Given the description of an element on the screen output the (x, y) to click on. 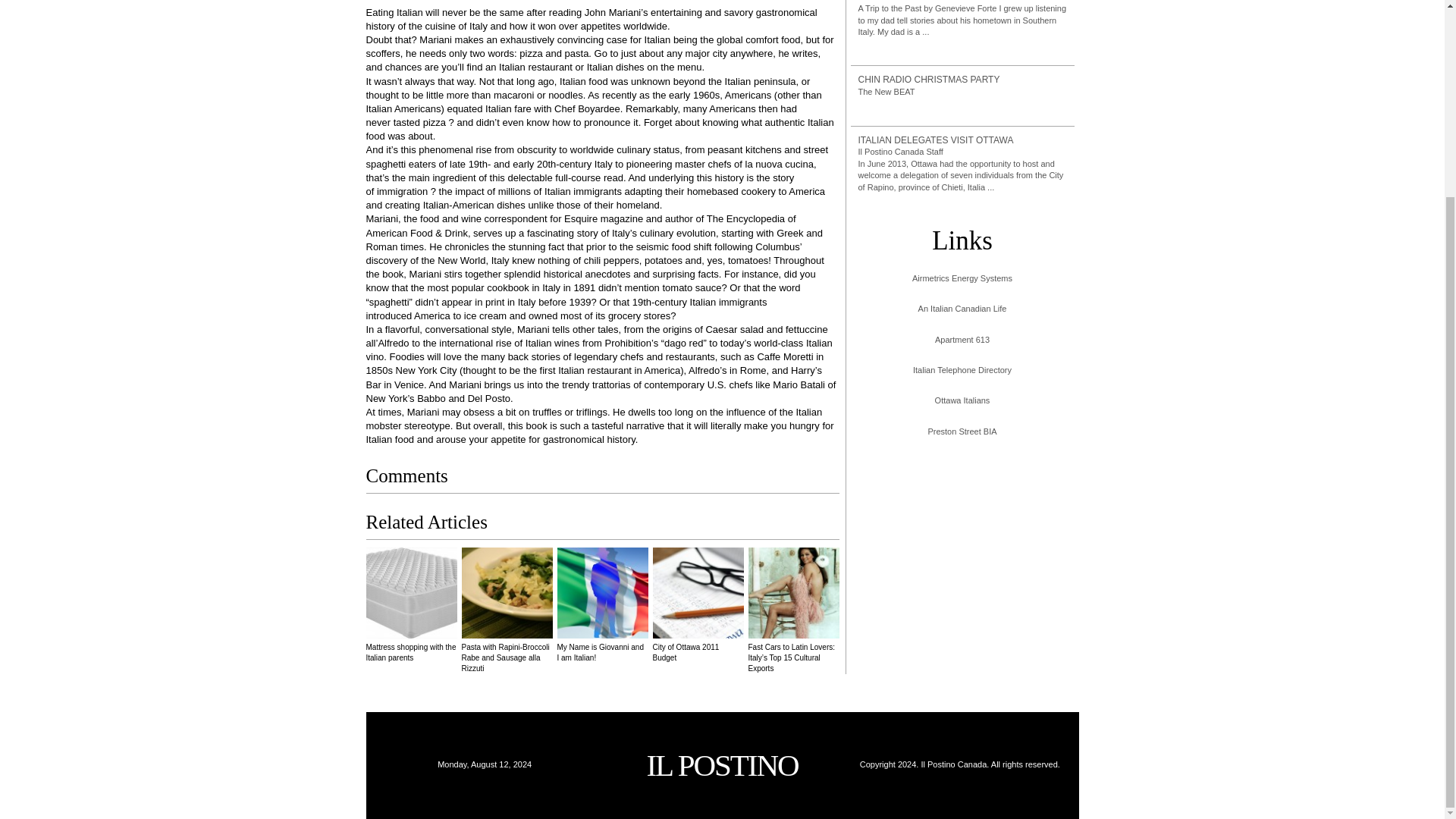
Airmetrics Energy Systems (962, 278)
Il Postino Canada Staff (901, 151)
ITALIAN DELEGATES VISIT OTTAWA (963, 140)
CHIN RADIO CHRISTMAS PARTY (963, 79)
An Italian Canadian Life (962, 308)
Preston Street BIA (962, 431)
Apartment 613 (962, 339)
Ottawa Italians (962, 400)
Italian Telephone Directory (962, 369)
